Given the description of an element on the screen output the (x, y) to click on. 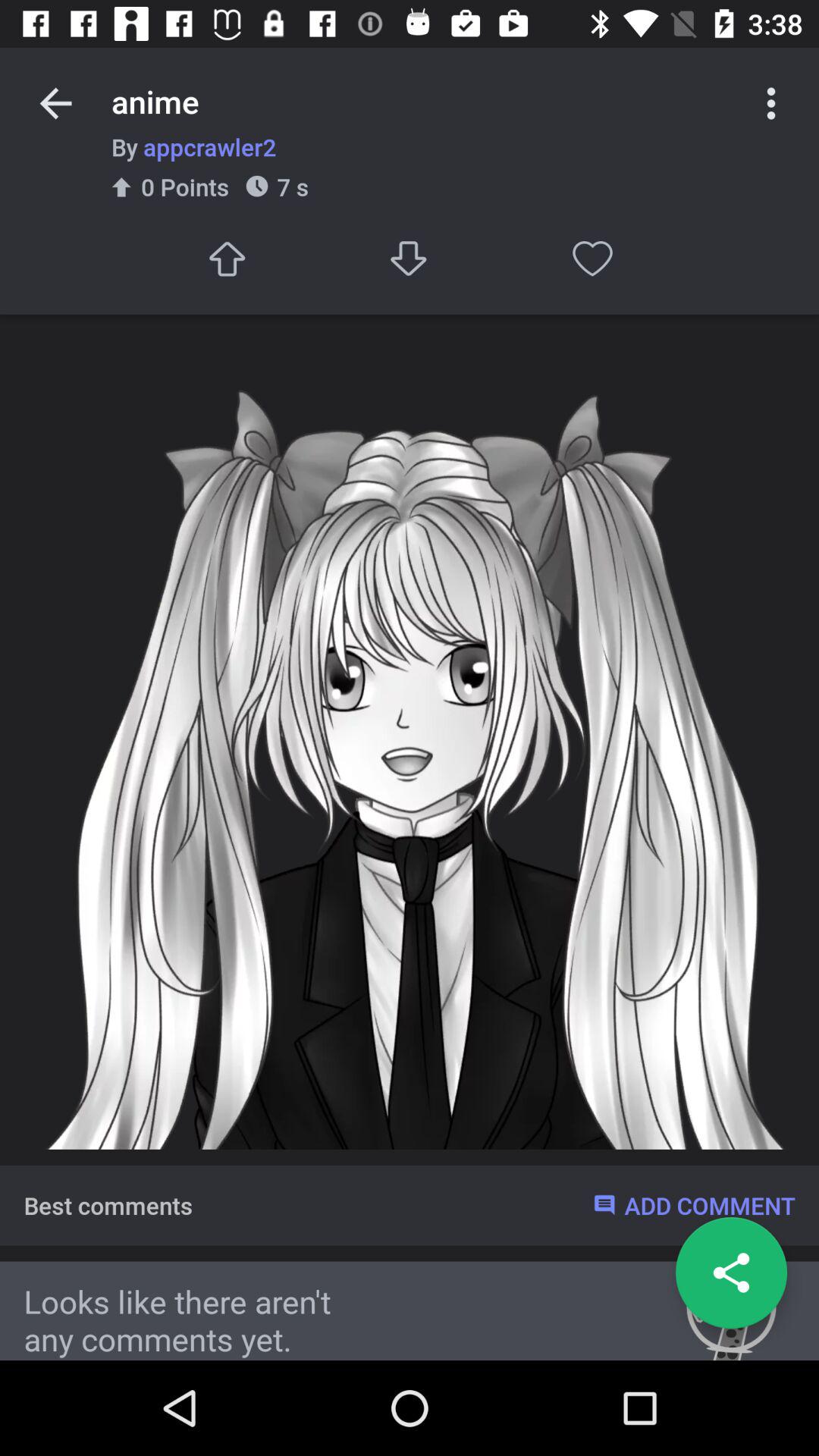
click to the more options (771, 103)
